Given the description of an element on the screen output the (x, y) to click on. 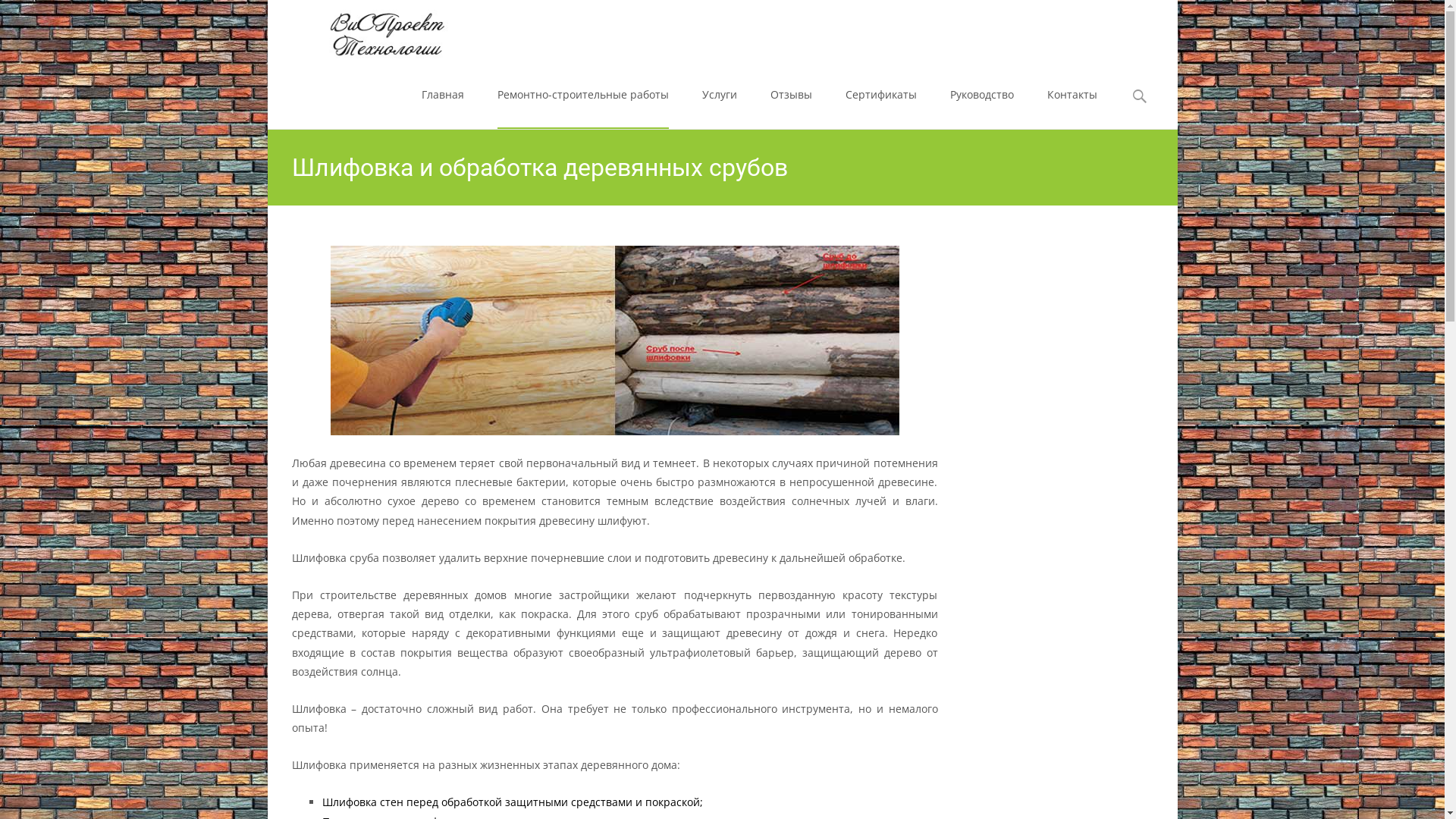
Skip to content Element type: text (444, 69)
